Given the description of an element on the screen output the (x, y) to click on. 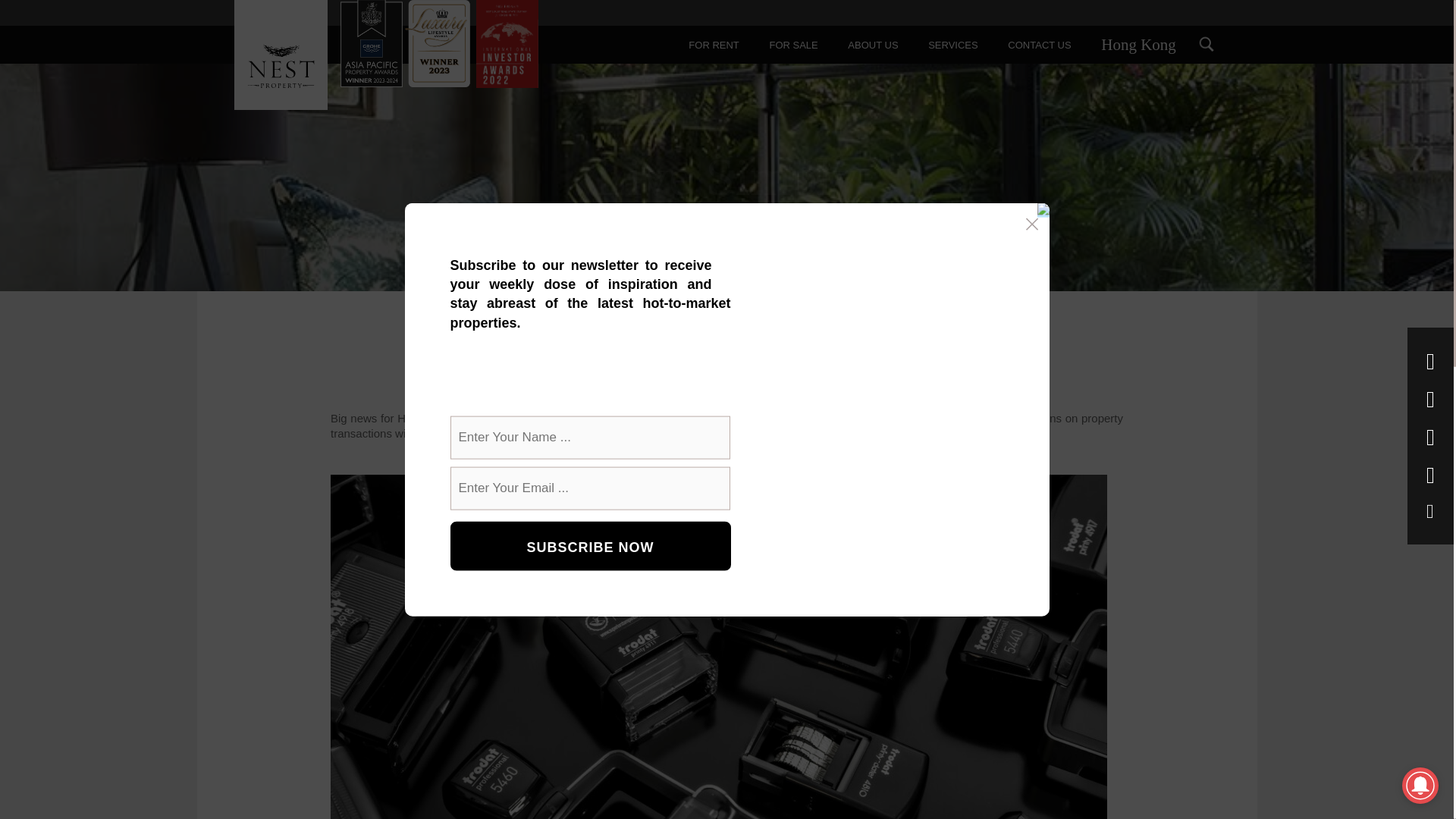
SERVICES (952, 44)
CONTACT US (1039, 44)
Chat on Whatsapp (1430, 479)
Share to LinkedIn (1430, 441)
FOR SALE (793, 44)
Hong Kong (1138, 44)
FOR RENT (713, 44)
Email (1430, 514)
Share to Facebook (1430, 365)
ABOUT US (872, 44)
instagram (1430, 403)
